Given the description of an element on the screen output the (x, y) to click on. 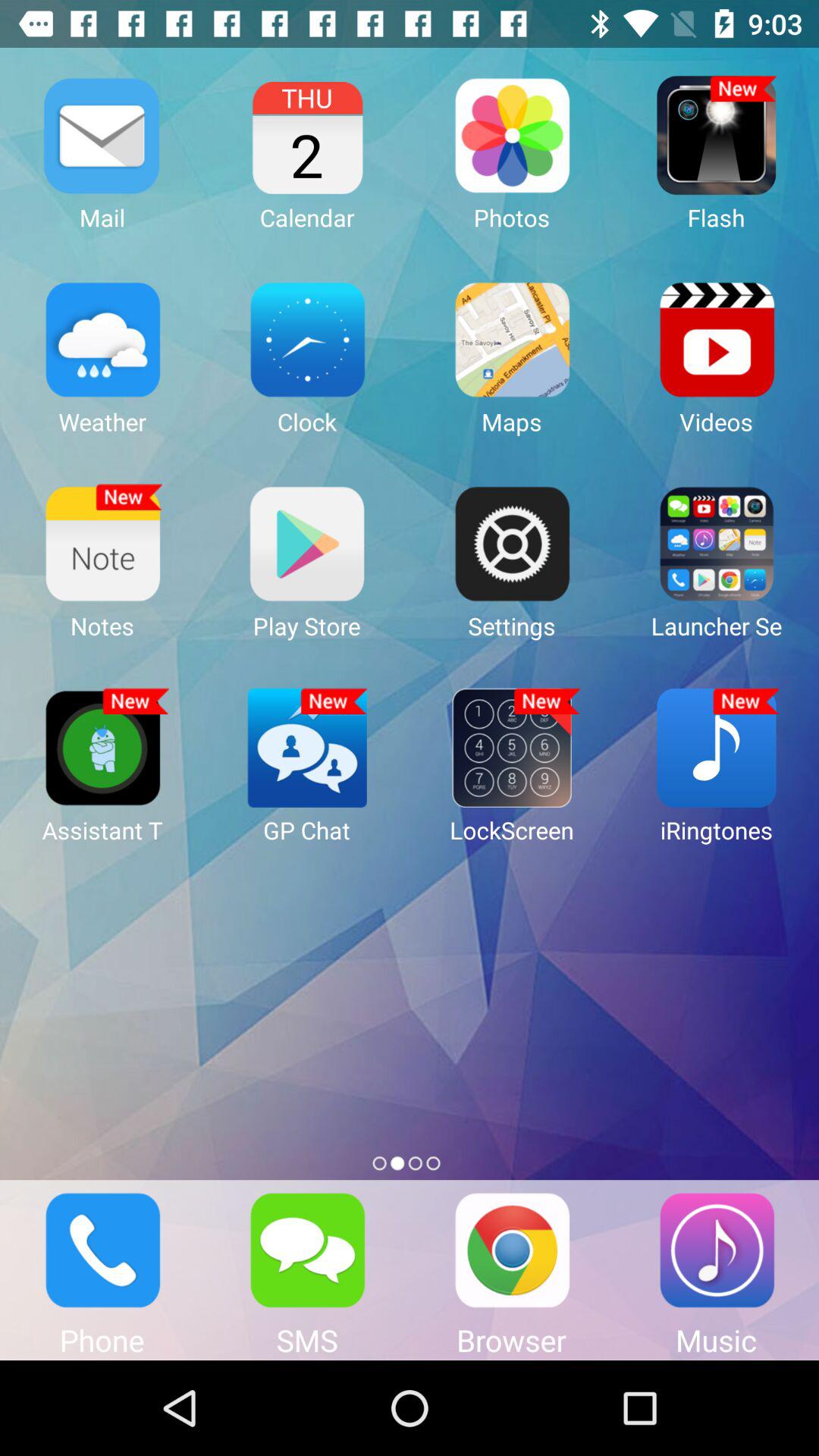
click on settings (511, 543)
click on the photos icon (511, 135)
